Given the description of an element on the screen output the (x, y) to click on. 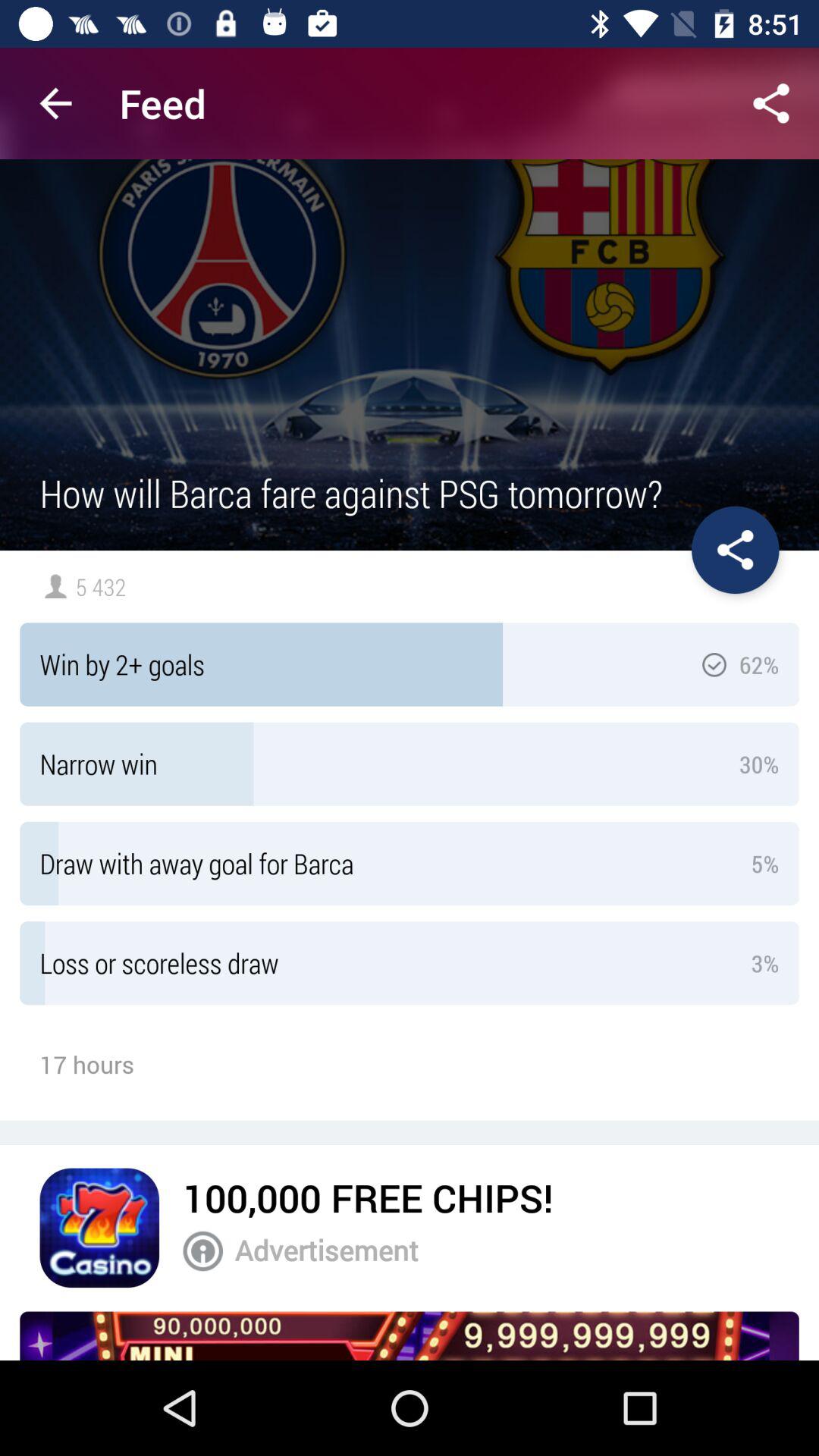
share the poll (735, 549)
